Given the description of an element on the screen output the (x, y) to click on. 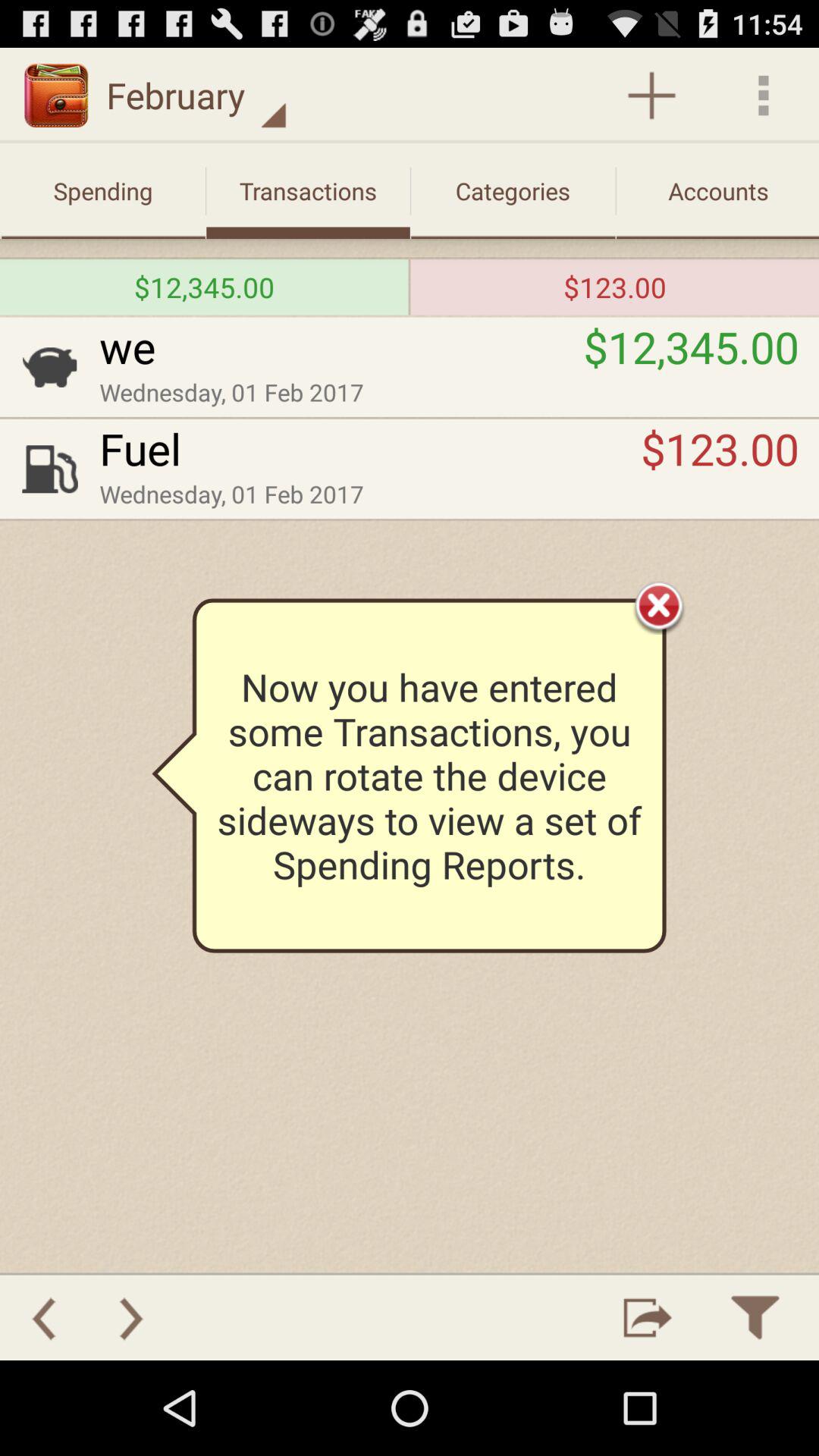
open the button to the right of the february (651, 95)
